Given the description of an element on the screen output the (x, y) to click on. 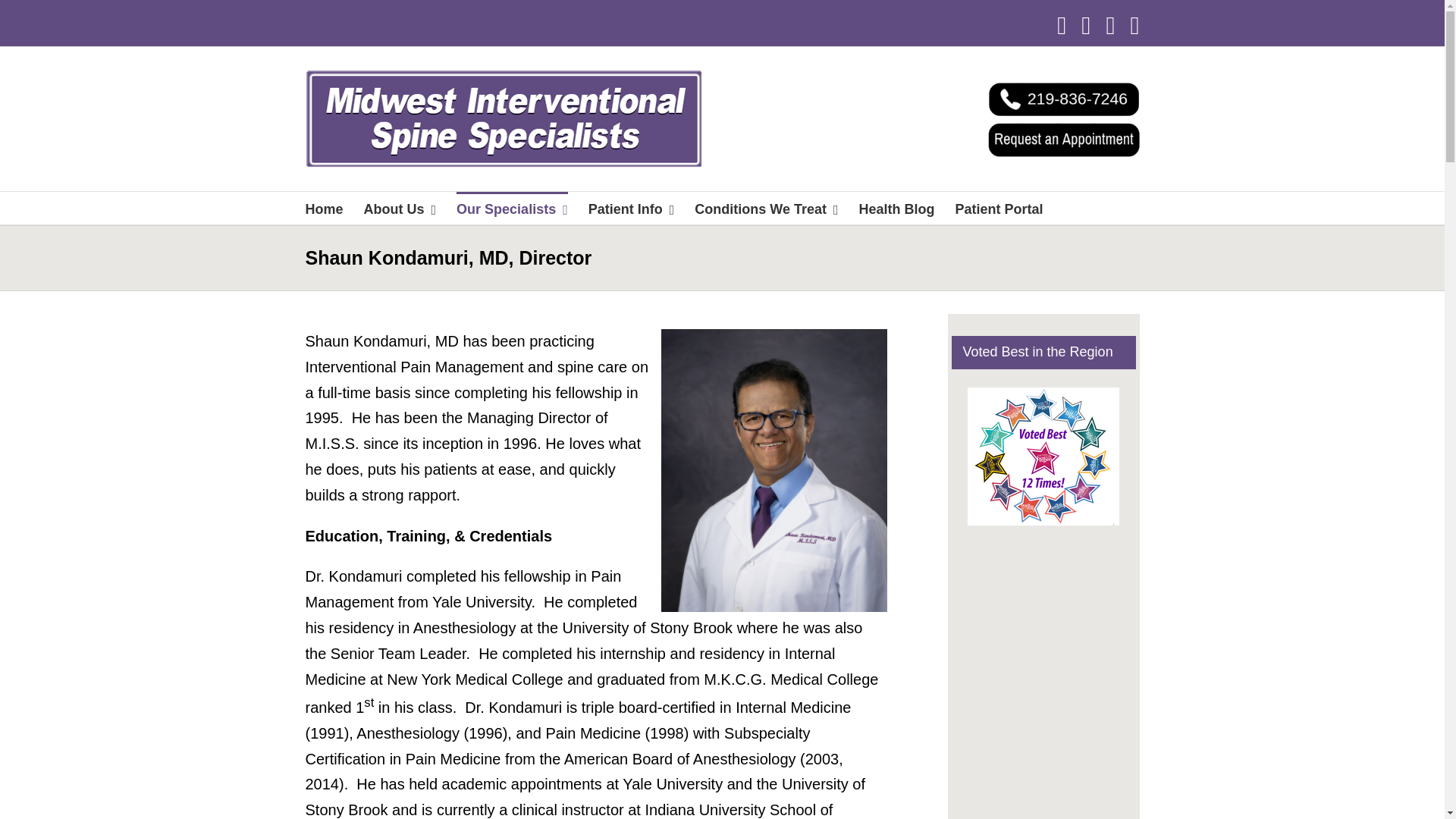
Health Blog (896, 207)
Our Specialists (512, 207)
Instagram (1133, 25)
Patient Info (631, 207)
About Us (400, 207)
Conditions We Treat (766, 207)
YouTube (1110, 25)
Facebook (1061, 25)
Twitter (1085, 25)
YouTube (1110, 25)
Patient Portal (999, 207)
Twitter (1085, 25)
Home (323, 207)
Facebook (1061, 25)
Instagram (1133, 25)
